Given the description of an element on the screen output the (x, y) to click on. 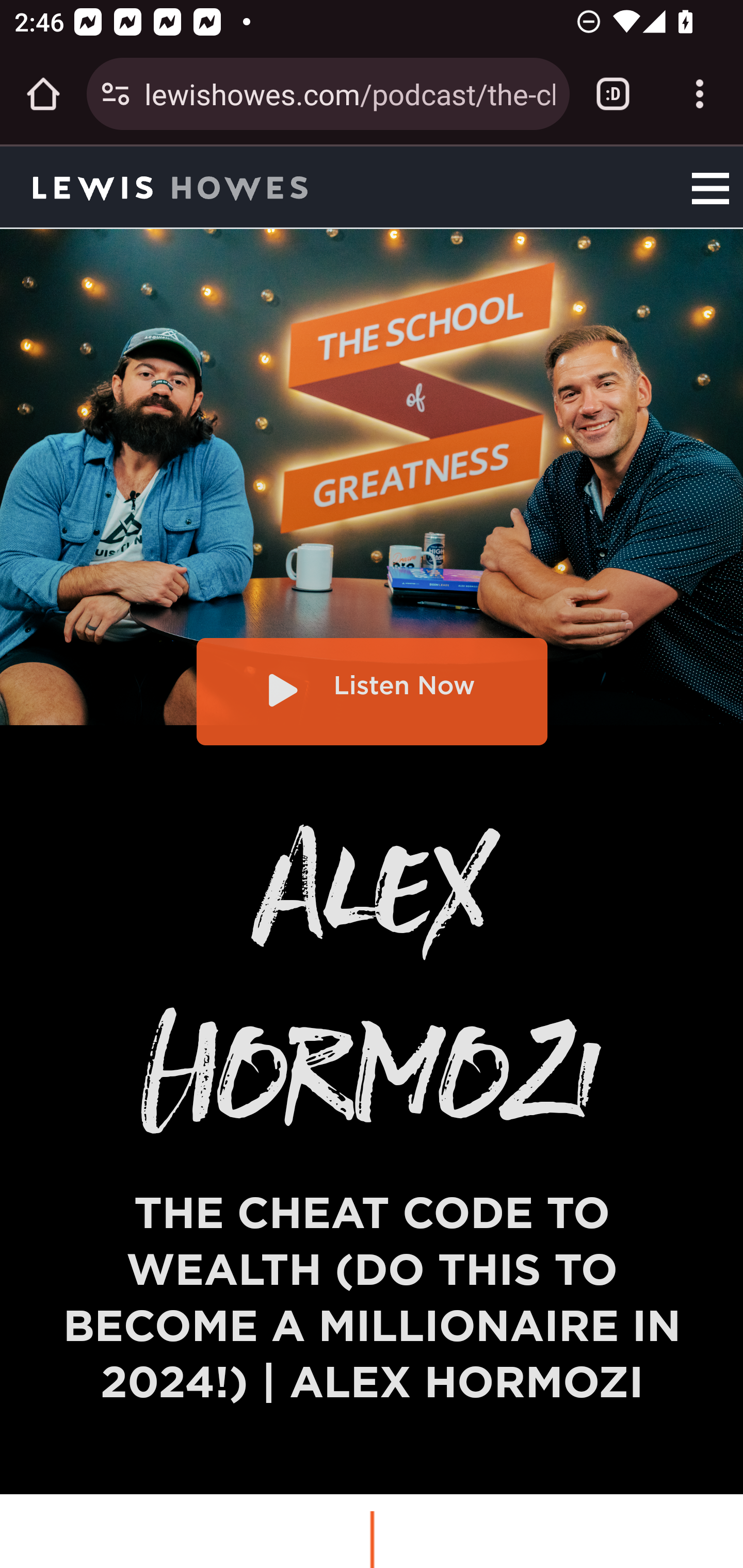
Open the home page (43, 93)
Connection is secure (115, 93)
Switch or close tabs (612, 93)
Customize and control Google Chrome (699, 93)
lewishowes (229, 185)
